Given the description of an element on the screen output the (x, y) to click on. 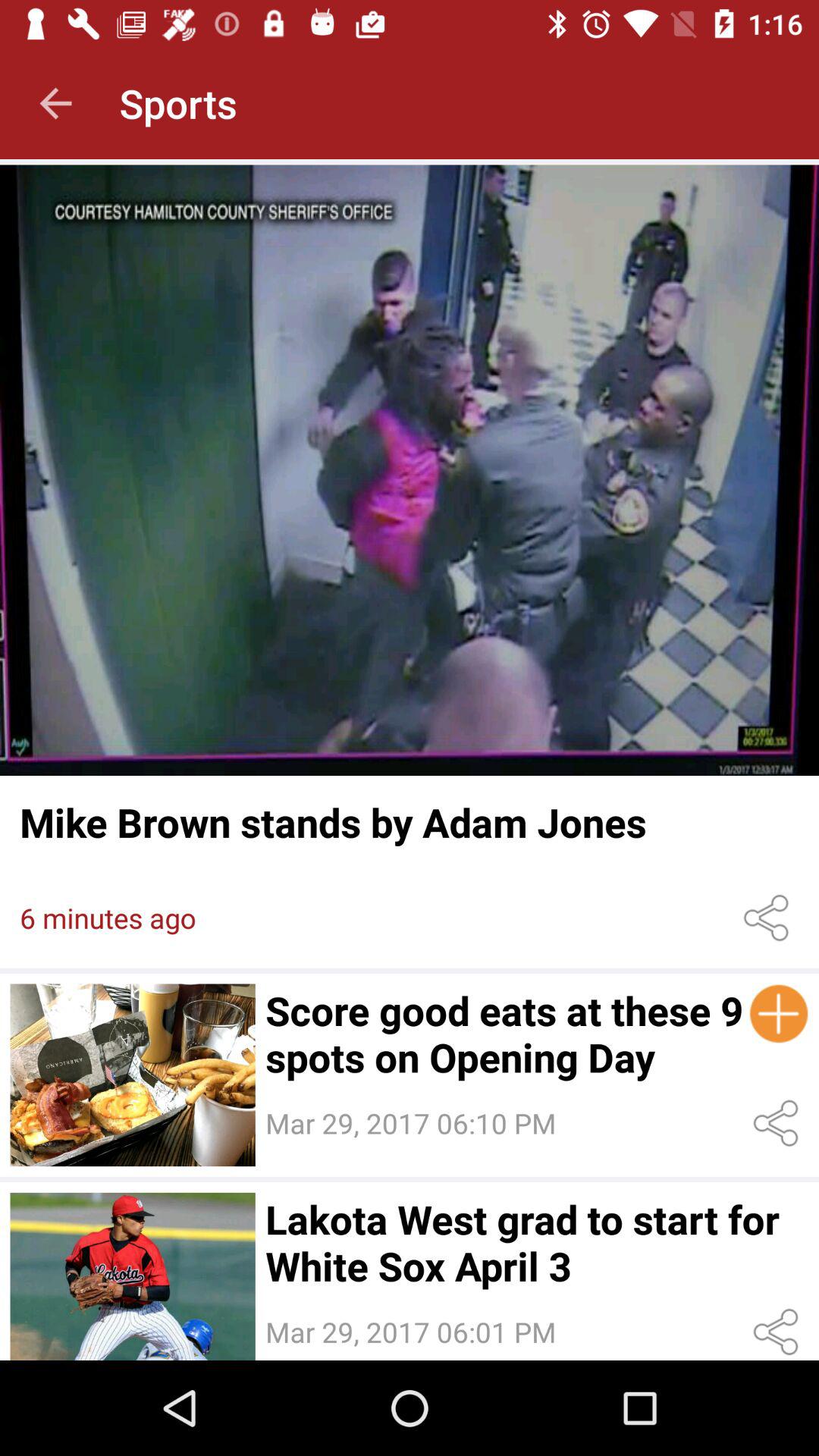
it is not interact with the above video (132, 1276)
